Given the description of an element on the screen output the (x, y) to click on. 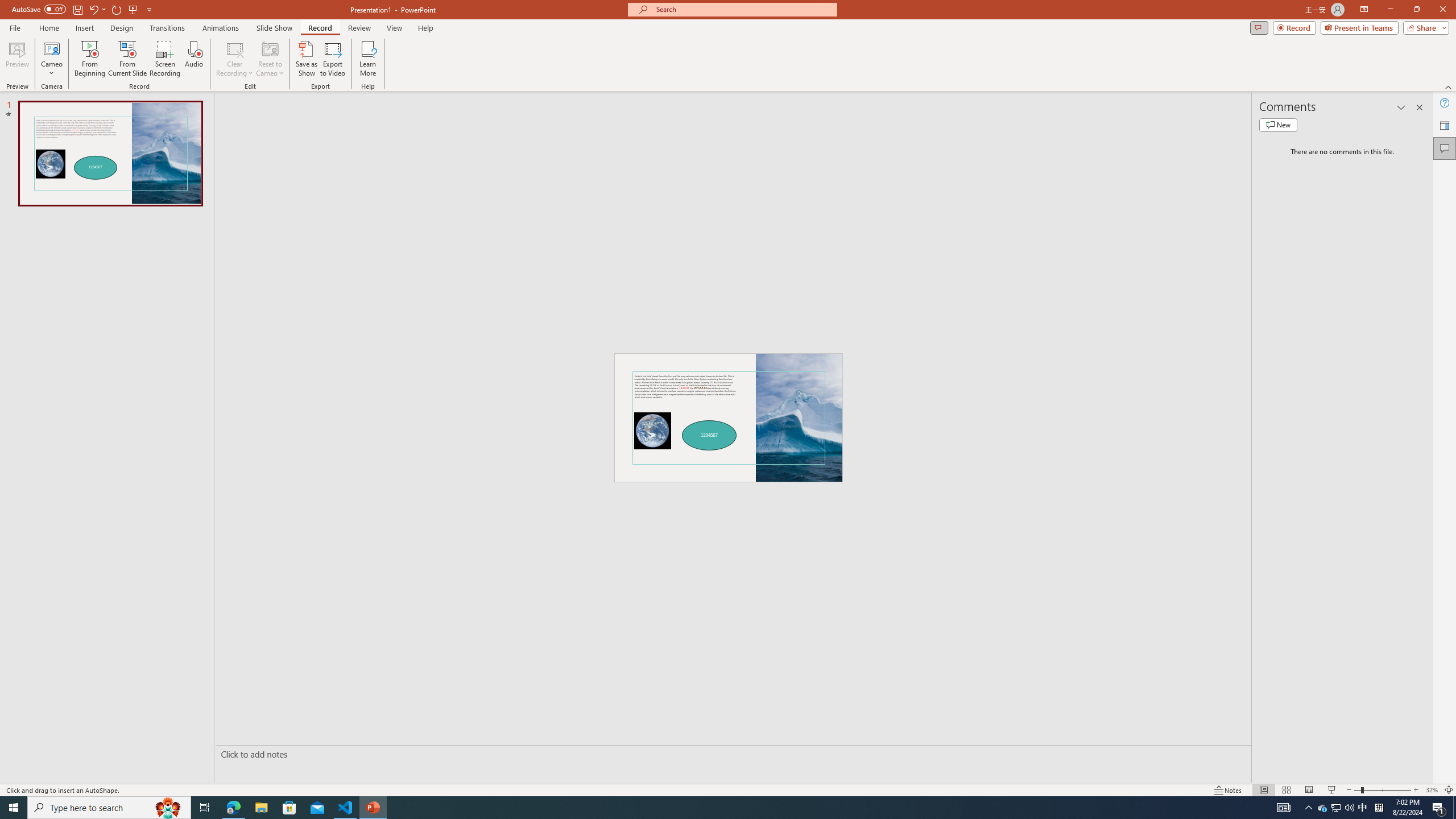
Export to Video (332, 58)
Save as Show (306, 58)
Preview (17, 58)
